Given the description of an element on the screen output the (x, y) to click on. 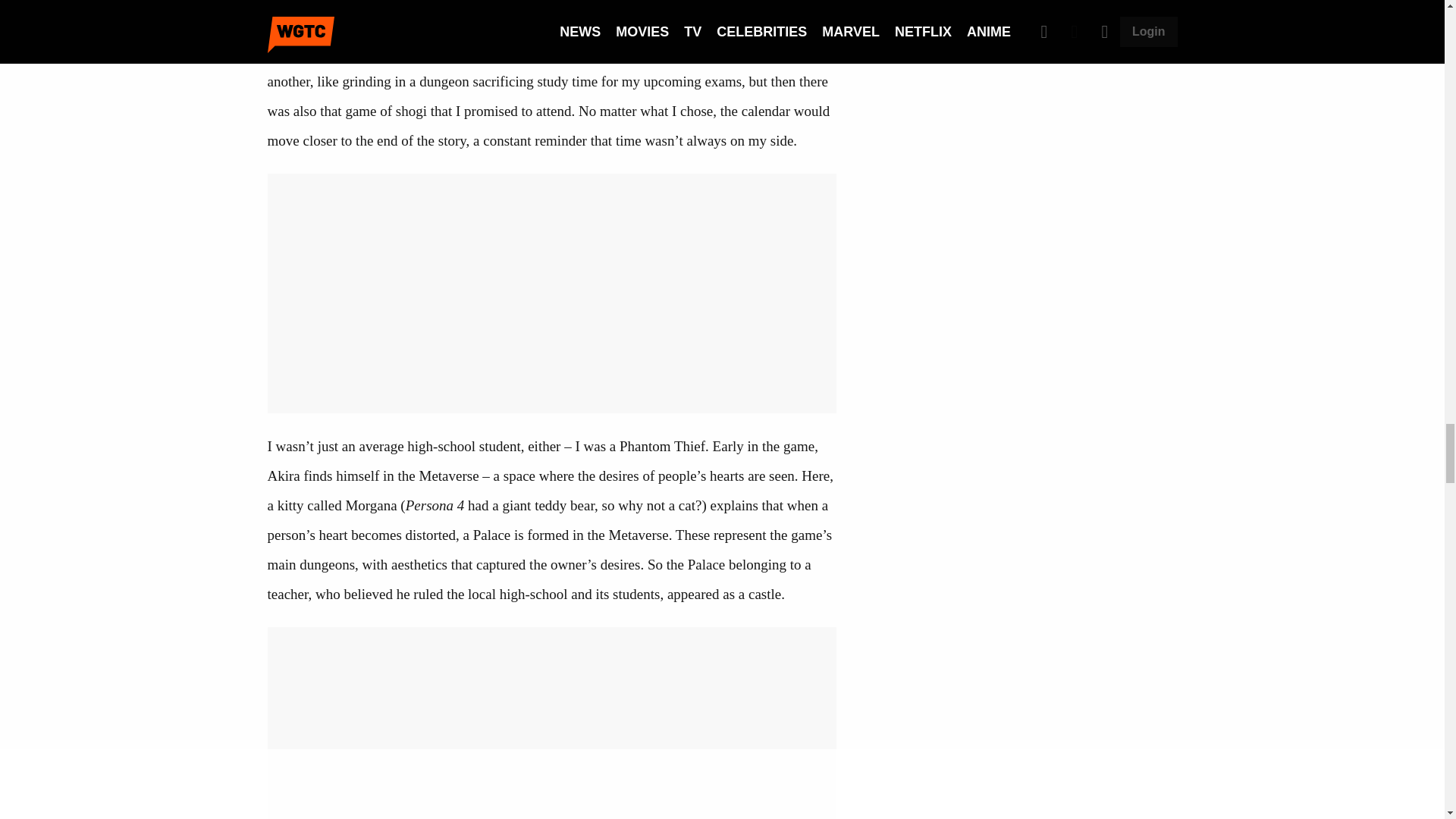
3rd party ad content (1024, 253)
